Given the description of an element on the screen output the (x, y) to click on. 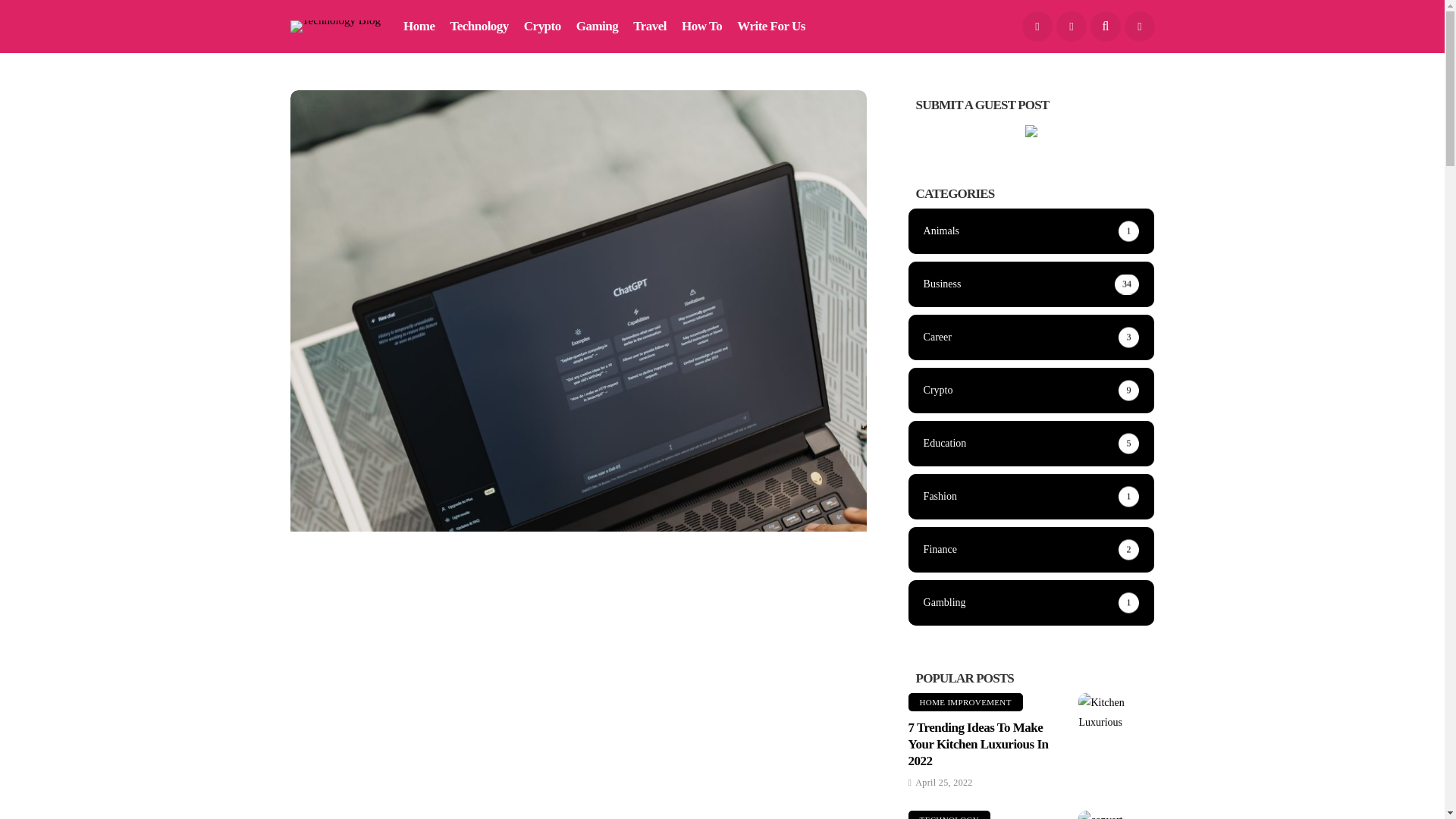
What is the best way to convert a JPG to PDF? (1116, 814)
7 Trending Ideas to Make Your Kitchen Luxurious in 2022 (1116, 712)
Write For Us (770, 26)
Technology (478, 26)
